Given the description of an element on the screen output the (x, y) to click on. 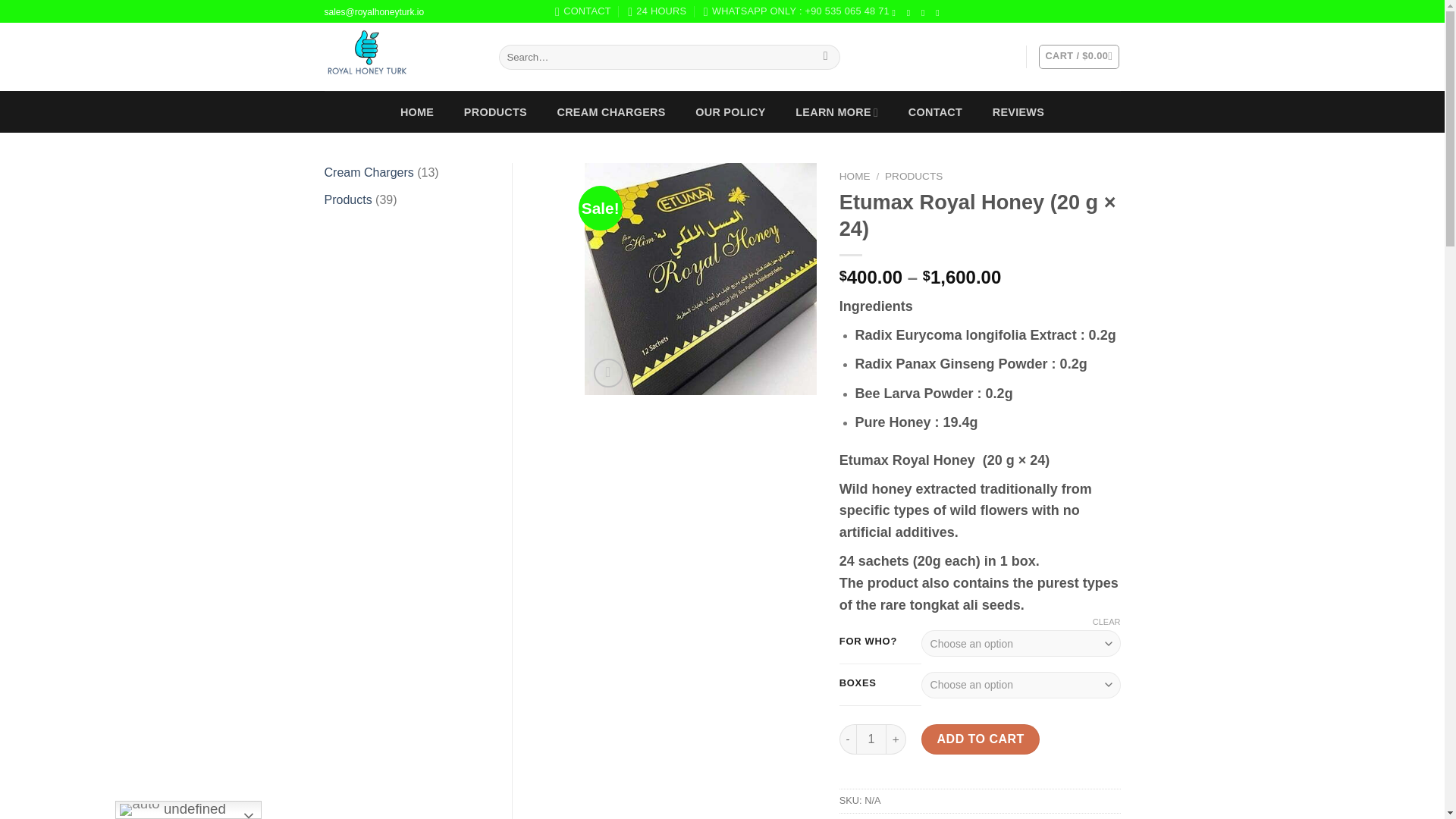
CONTACT (582, 11)
VIP ROYAL HONEY - ROYAL HONEY VIP (400, 56)
HOME (416, 111)
CLEAR (1107, 621)
Send us an email (940, 12)
PRODUCTS (913, 175)
Honey Royal Honey Etumax (932, 278)
24 HOURS (656, 11)
- (848, 738)
24 Hours  (656, 11)
Search (825, 57)
Follow on Facebook (896, 12)
Follow on Instagram (911, 12)
LEARN MORE (836, 112)
Products (348, 199)
